Given the description of an element on the screen output the (x, y) to click on. 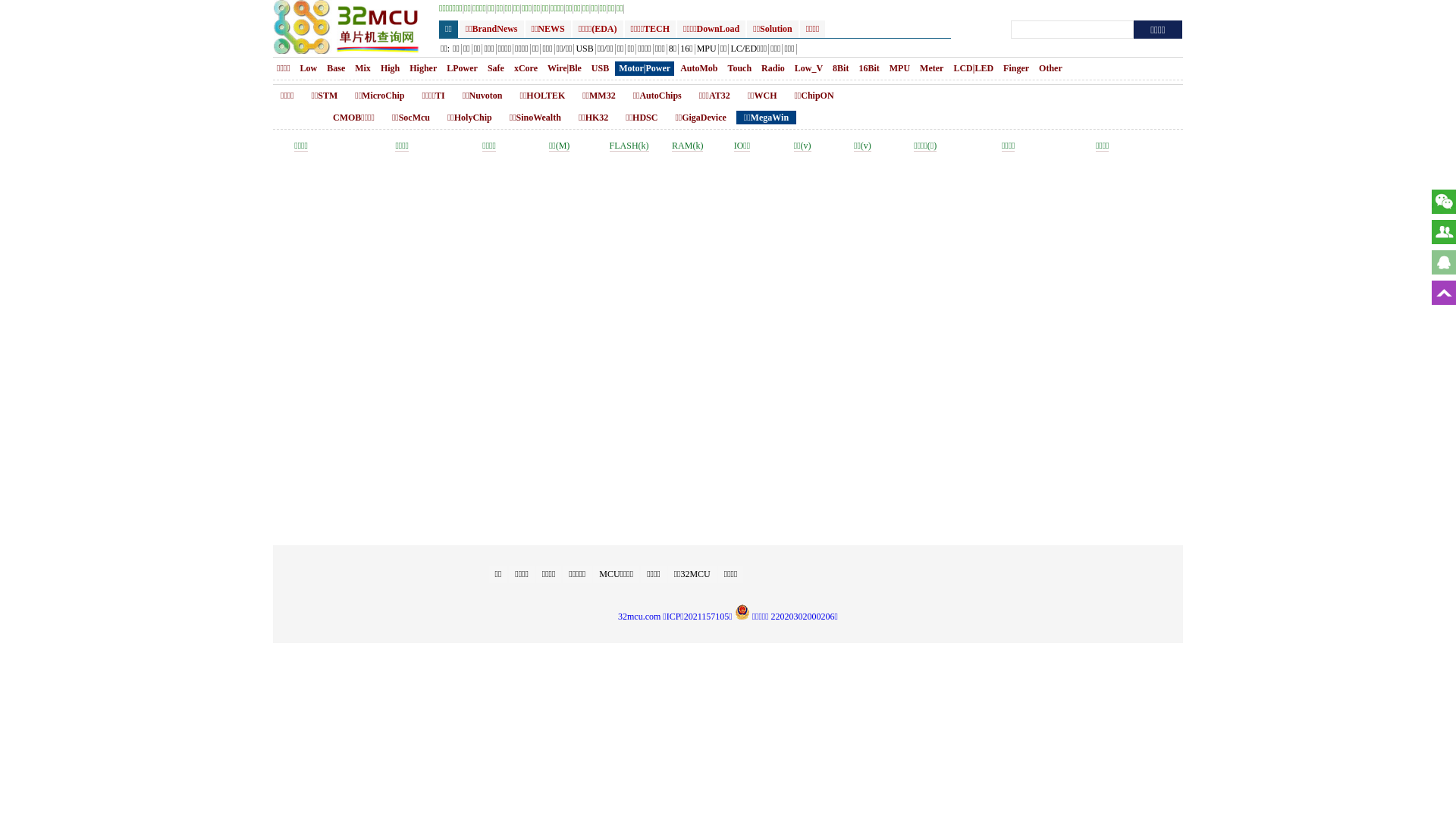
RAM(k) Element type: text (686, 144)
LPower Element type: text (461, 68)
High Element type: text (389, 68)
Motor|Power Element type: text (645, 68)
Low Element type: text (308, 68)
Higher Element type: text (422, 68)
Touch Element type: text (739, 68)
Base Element type: text (335, 68)
Finger Element type: text (1015, 68)
Safe Element type: text (495, 68)
FLASH(k) Element type: text (629, 144)
xCore Element type: text (525, 68)
USB Element type: text (584, 49)
MPU Element type: text (706, 49)
MPU Element type: text (899, 68)
Low_V Element type: text (808, 68)
Other Element type: text (1050, 68)
USB Element type: text (599, 68)
32mcu.com Element type: text (639, 616)
8Bit Element type: text (840, 68)
16Bit Element type: text (868, 68)
Wire|Ble Element type: text (564, 68)
Mix Element type: text (362, 68)
AutoMob Element type: text (698, 68)
Meter Element type: text (931, 68)
LCD|LED Element type: text (973, 68)
Radio Element type: text (772, 68)
